Given the description of an element on the screen output the (x, y) to click on. 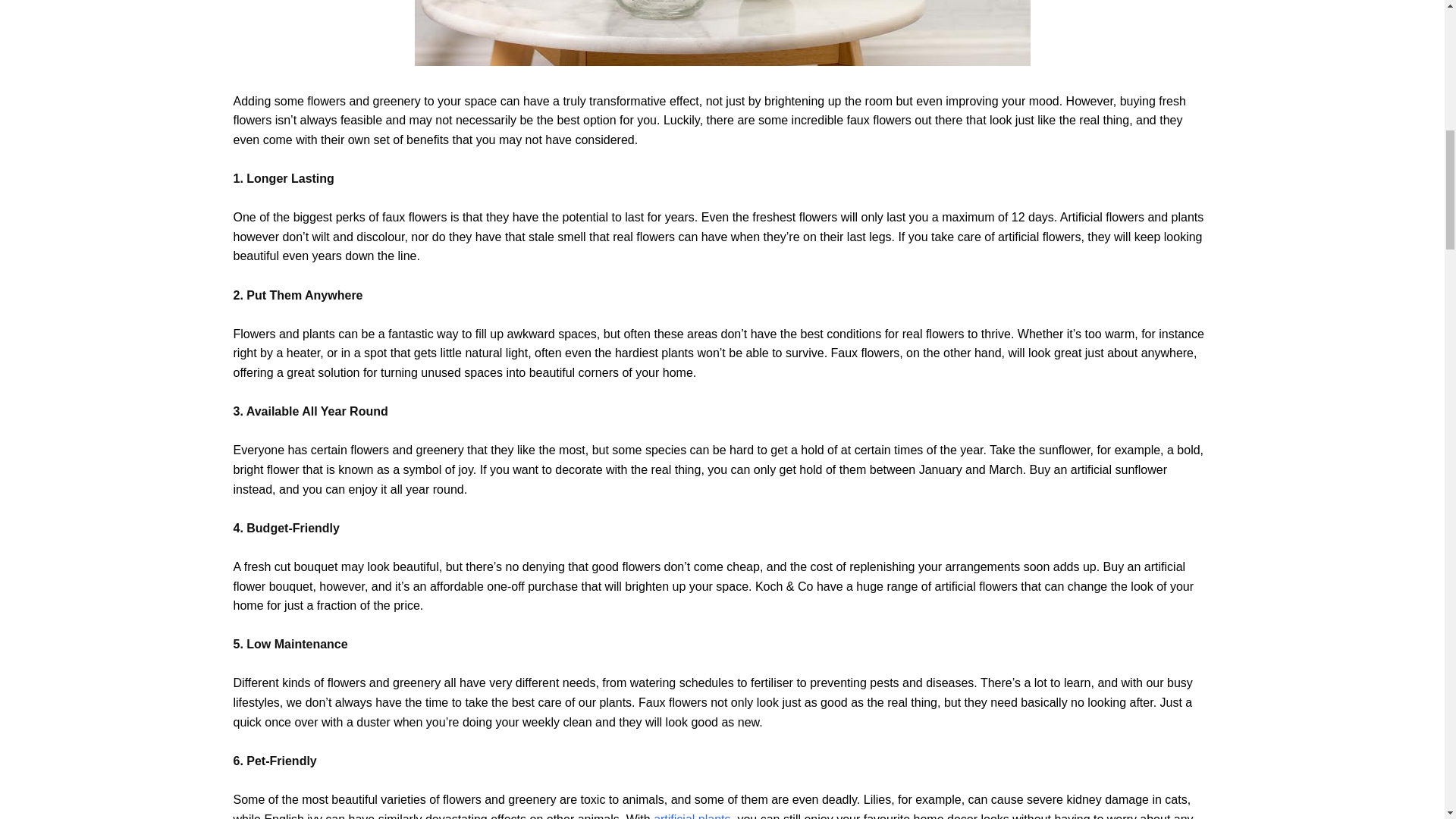
artificial plants (691, 816)
